Given the description of an element on the screen output the (x, y) to click on. 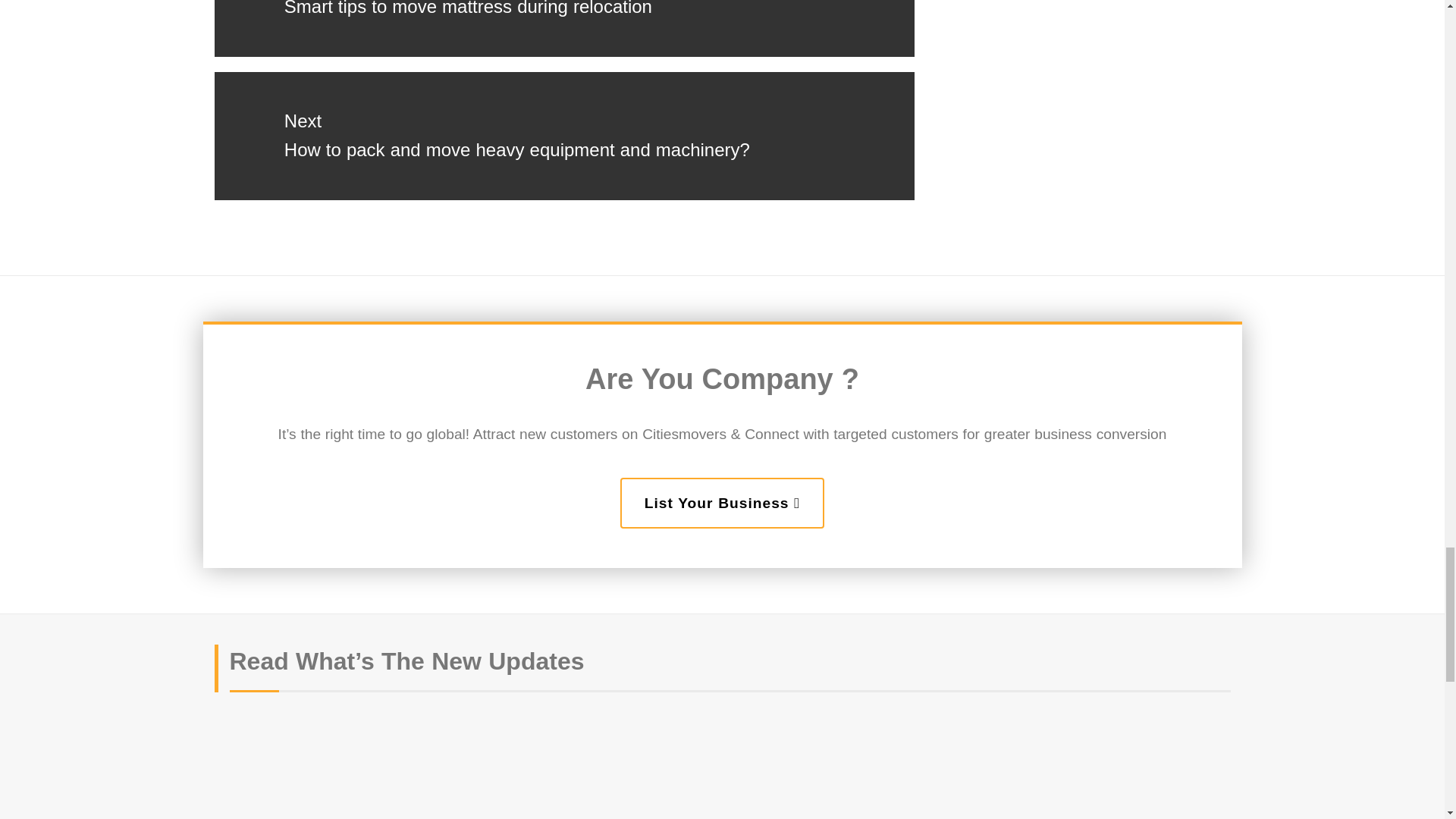
List Your Business (722, 502)
